Given the description of an element on the screen output the (x, y) to click on. 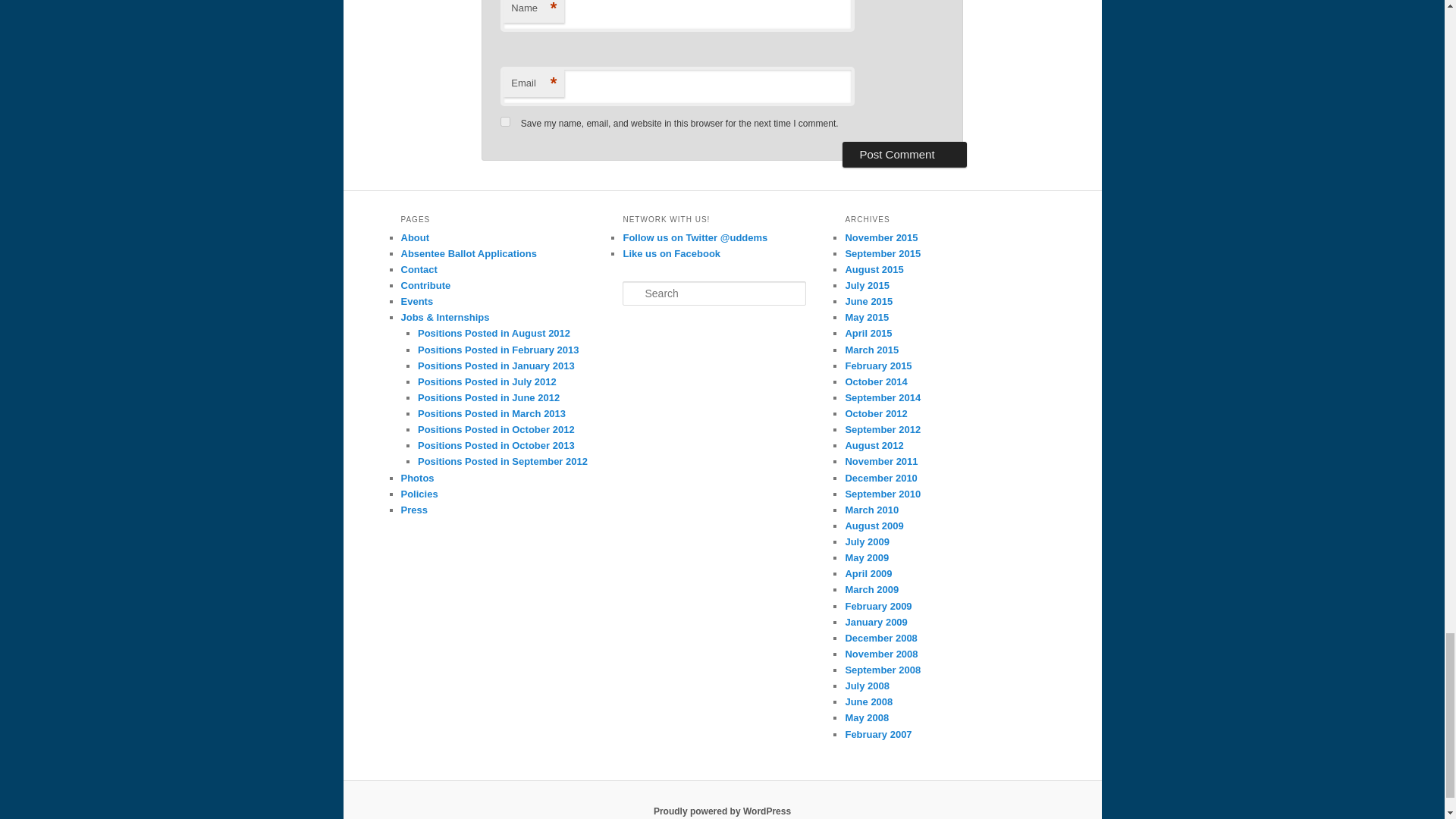
Semantic Personal Publishing Platform (721, 810)
Positions Posted in August 2012 (493, 333)
Events (416, 301)
Contact (418, 269)
About (414, 237)
UD College Democrats (671, 253)
yes (505, 121)
Absentee Ballot Applications (467, 253)
Post Comment (904, 154)
Contribute (424, 285)
